Given the description of an element on the screen output the (x, y) to click on. 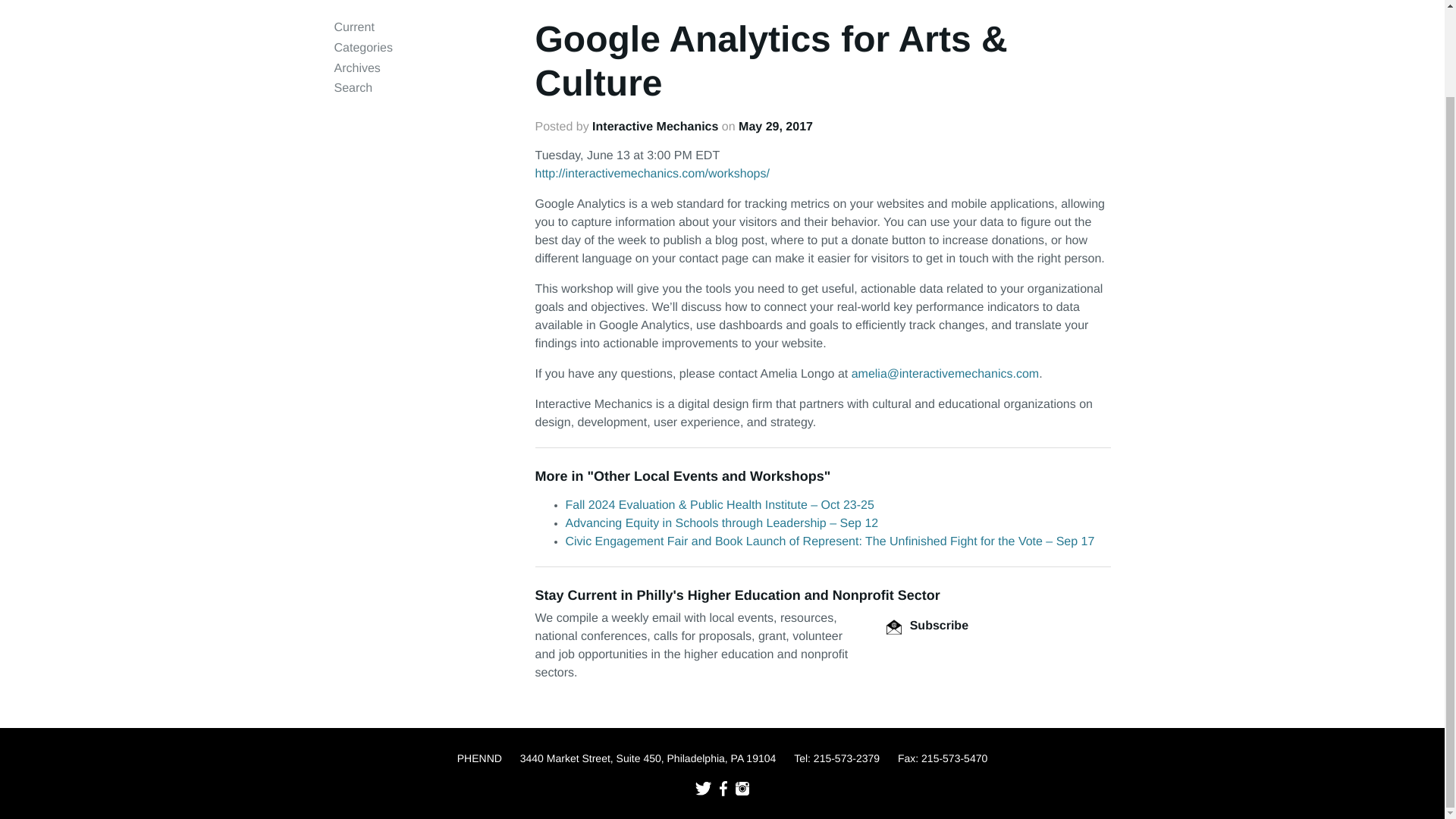
Search (352, 88)
Interactive Mechanics (654, 126)
Subscribe (927, 625)
Archives (356, 68)
Other Local Events and Workshops (709, 476)
Current (353, 27)
Categories (362, 47)
May 29, 2017 (775, 126)
